Given the description of an element on the screen output the (x, y) to click on. 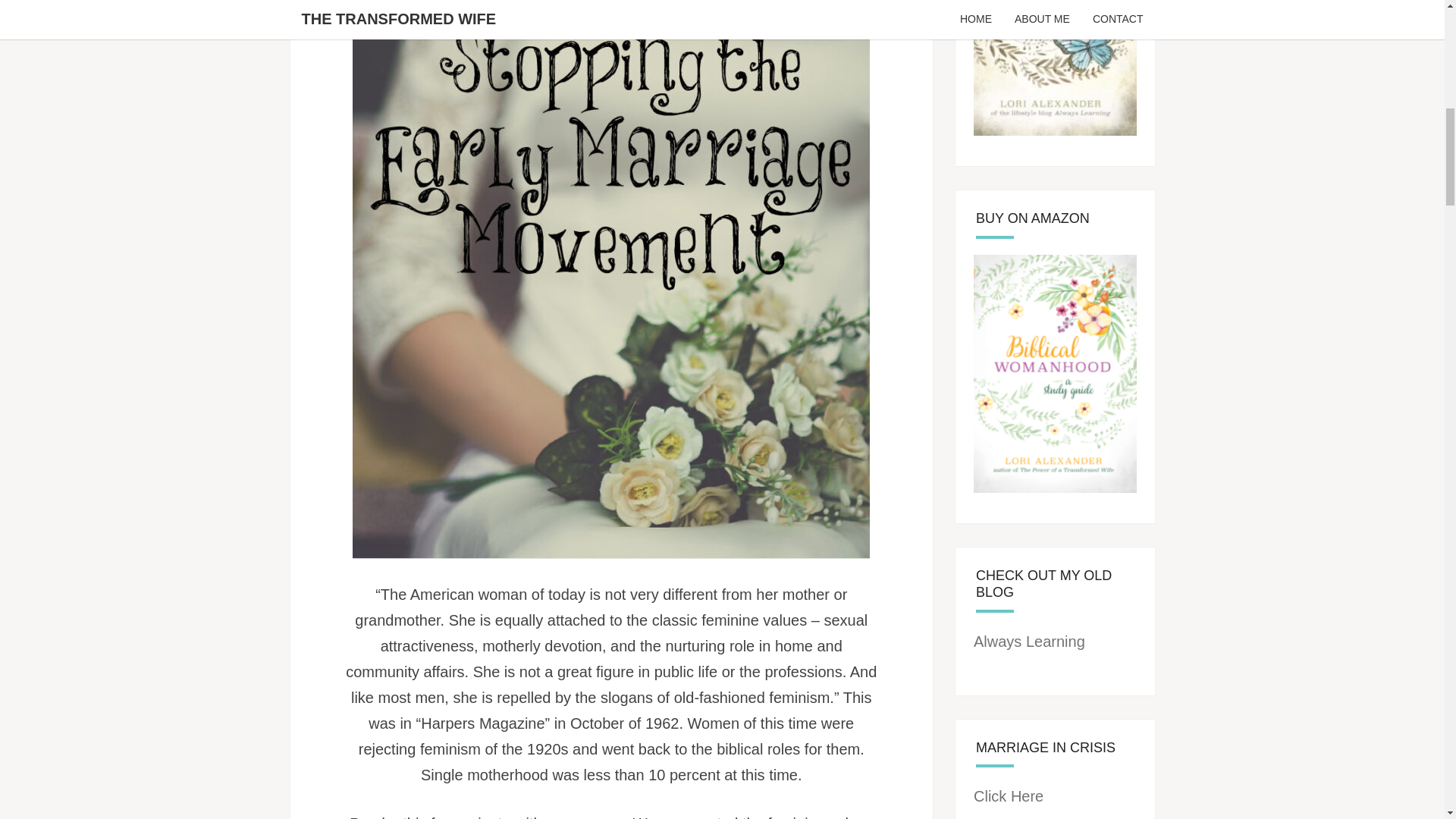
Buy on Amazon (1055, 67)
Click Here (1008, 795)
Always Learning (1029, 641)
